Given the description of an element on the screen output the (x, y) to click on. 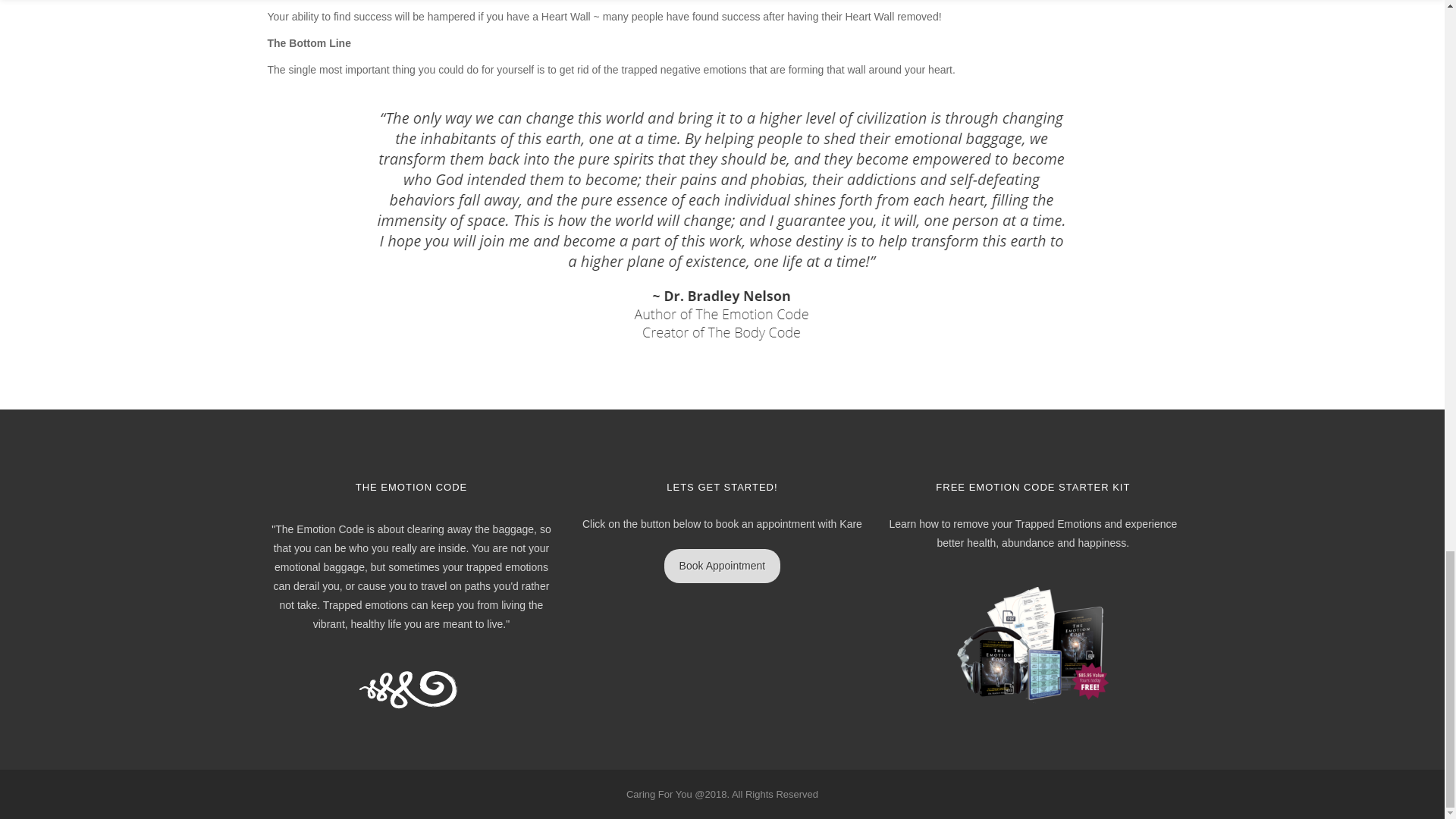
Book Appointment (721, 565)
